Given the description of an element on the screen output the (x, y) to click on. 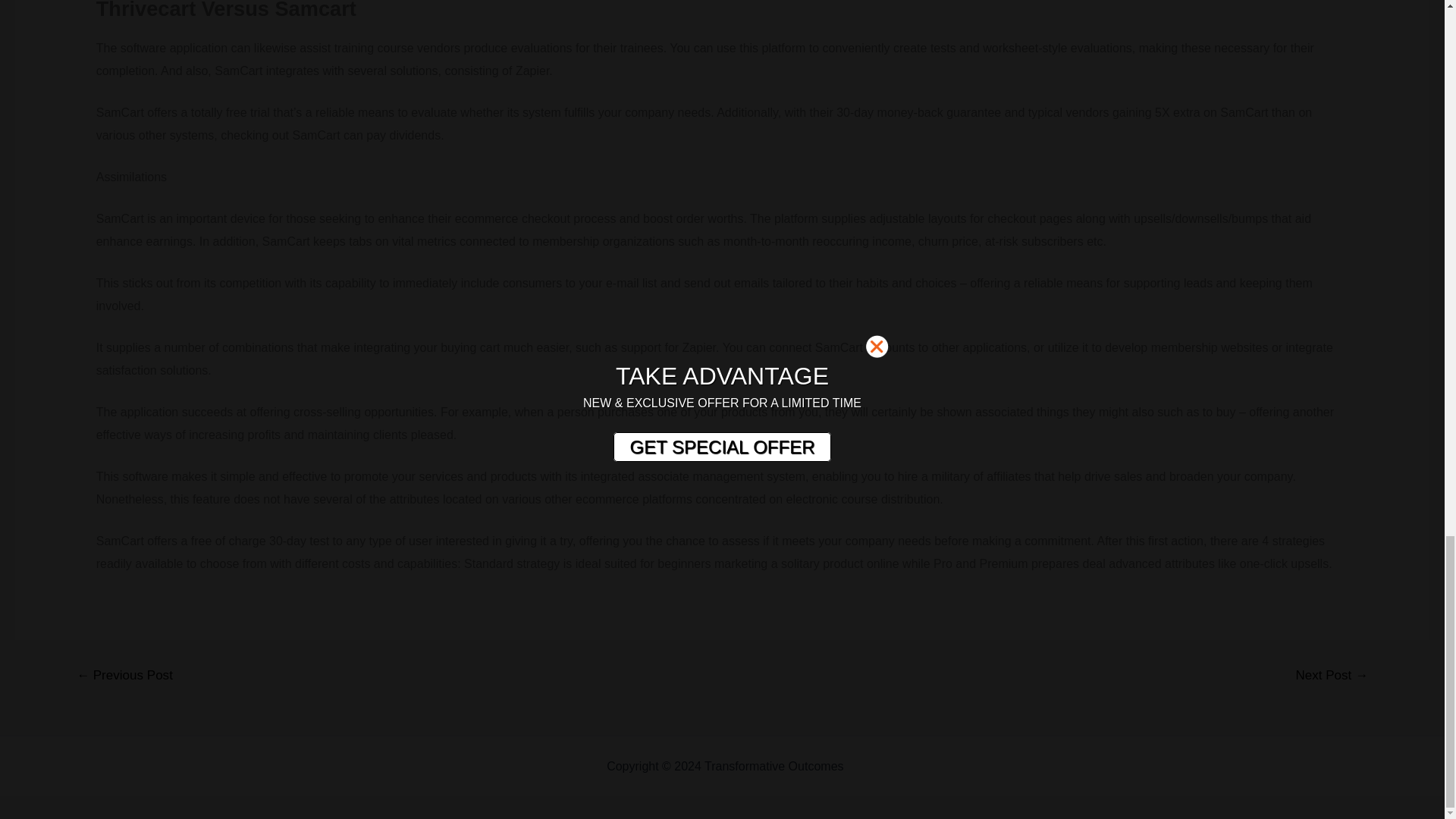
Sitemap (869, 766)
